Given the description of an element on the screen output the (x, y) to click on. 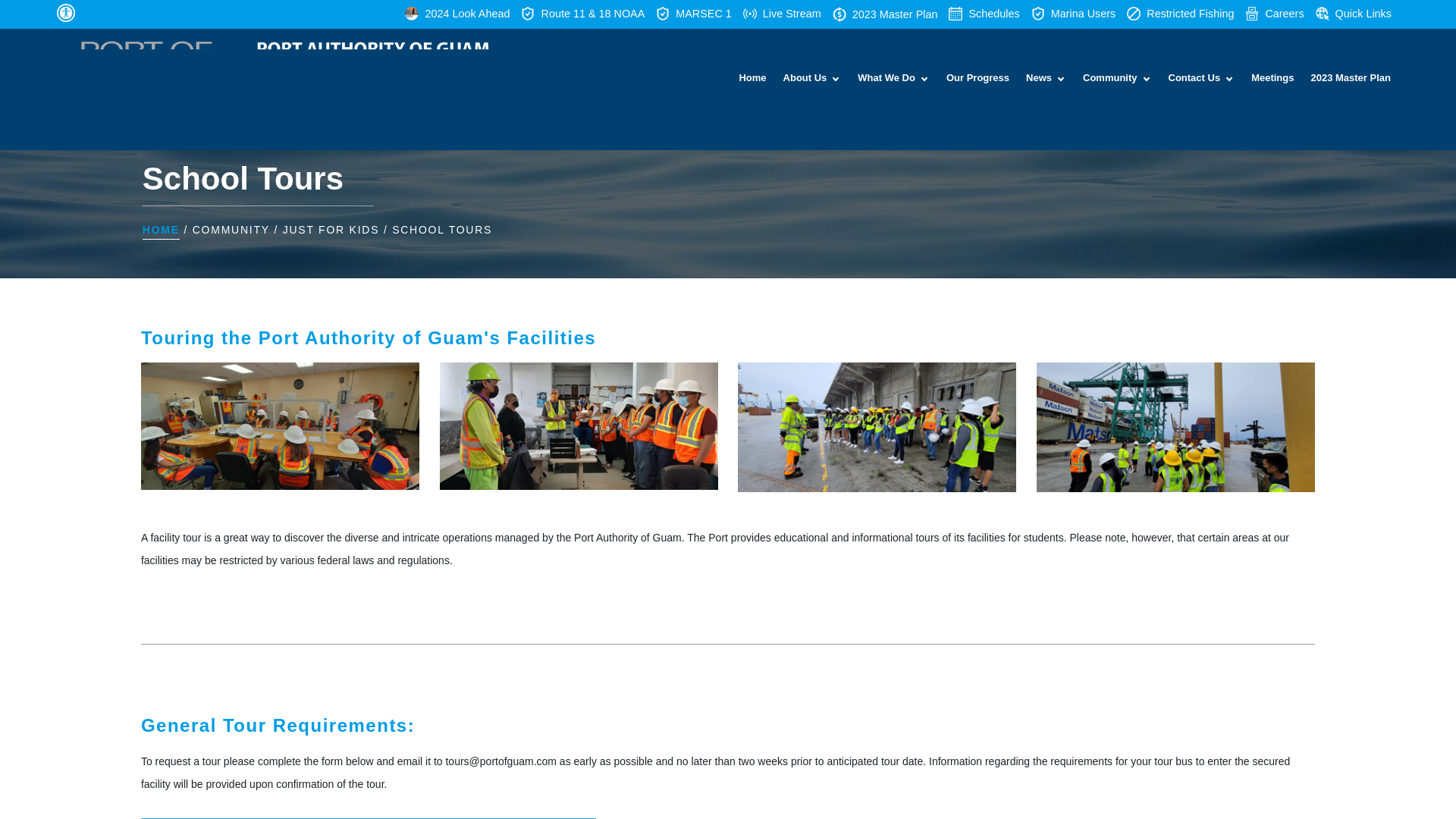
Quick Links (1353, 13)
Home (751, 77)
MARSEC 1 (694, 13)
Accessibility Options  (67, 12)
Marina Users (1073, 13)
Live Stream (781, 13)
Schedules (984, 13)
2023 Master Plan (884, 14)
Restricted Fishing (1179, 13)
Careers (1273, 13)
About Us (811, 77)
2024 Look Ahead (456, 13)
